Given the description of an element on the screen output the (x, y) to click on. 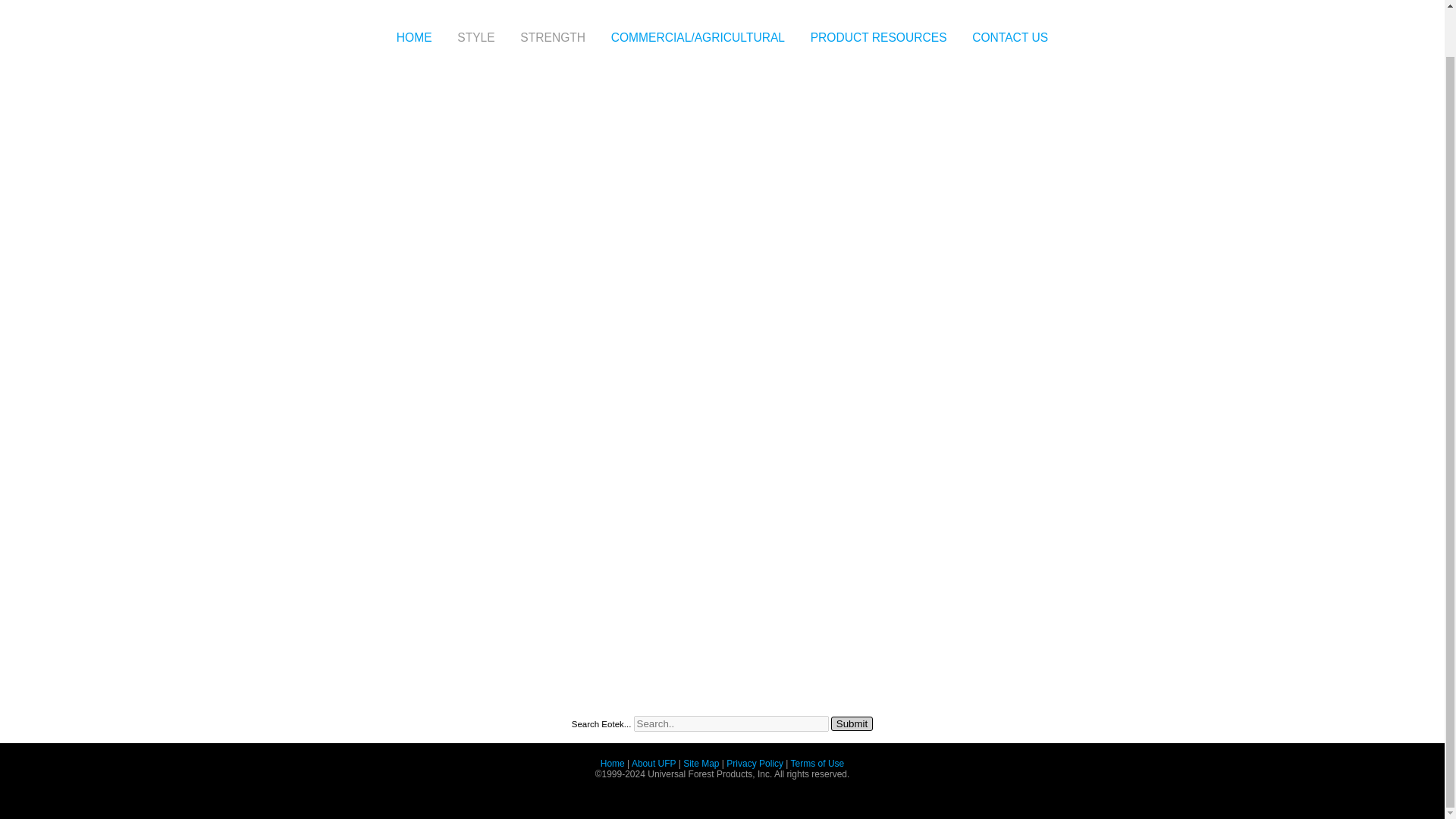
STRENGTH (552, 39)
CONTACT US (1009, 34)
STYLE (475, 39)
HOME (414, 34)
Submit (851, 723)
About UFP (653, 763)
Site Map (700, 763)
Submit (851, 723)
PRODUCT RESOURCES (878, 34)
Home (611, 763)
